Given the description of an element on the screen output the (x, y) to click on. 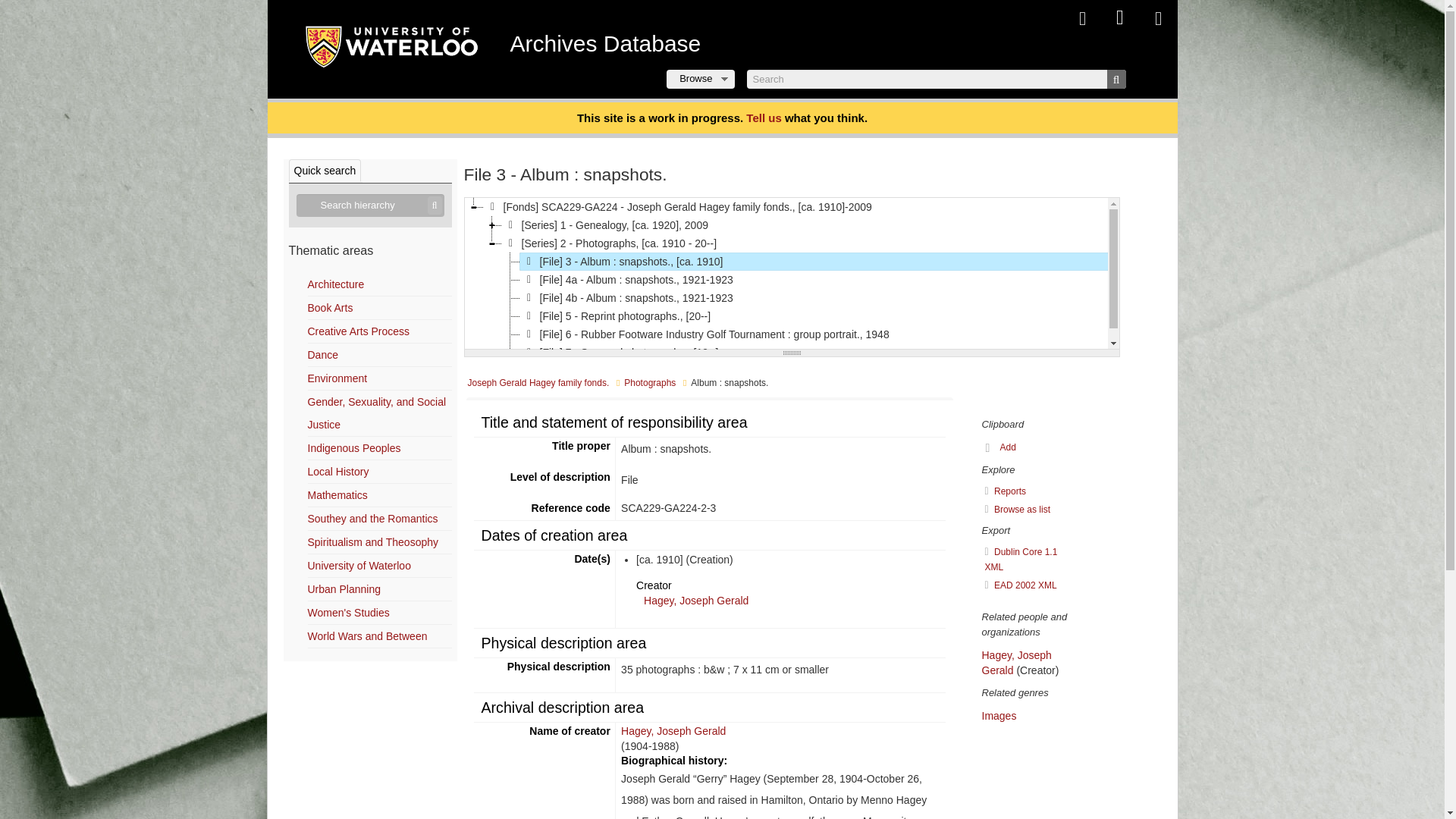
Browse (699, 78)
Book Arts (330, 307)
Mathematics (337, 494)
Clipboard (1081, 18)
Environment (337, 378)
Quick search (324, 169)
Local History (338, 471)
Indigenous Peoples (354, 448)
Dance (322, 354)
Gender, Sexuality, and Social Justice (376, 412)
